Given the description of an element on the screen output the (x, y) to click on. 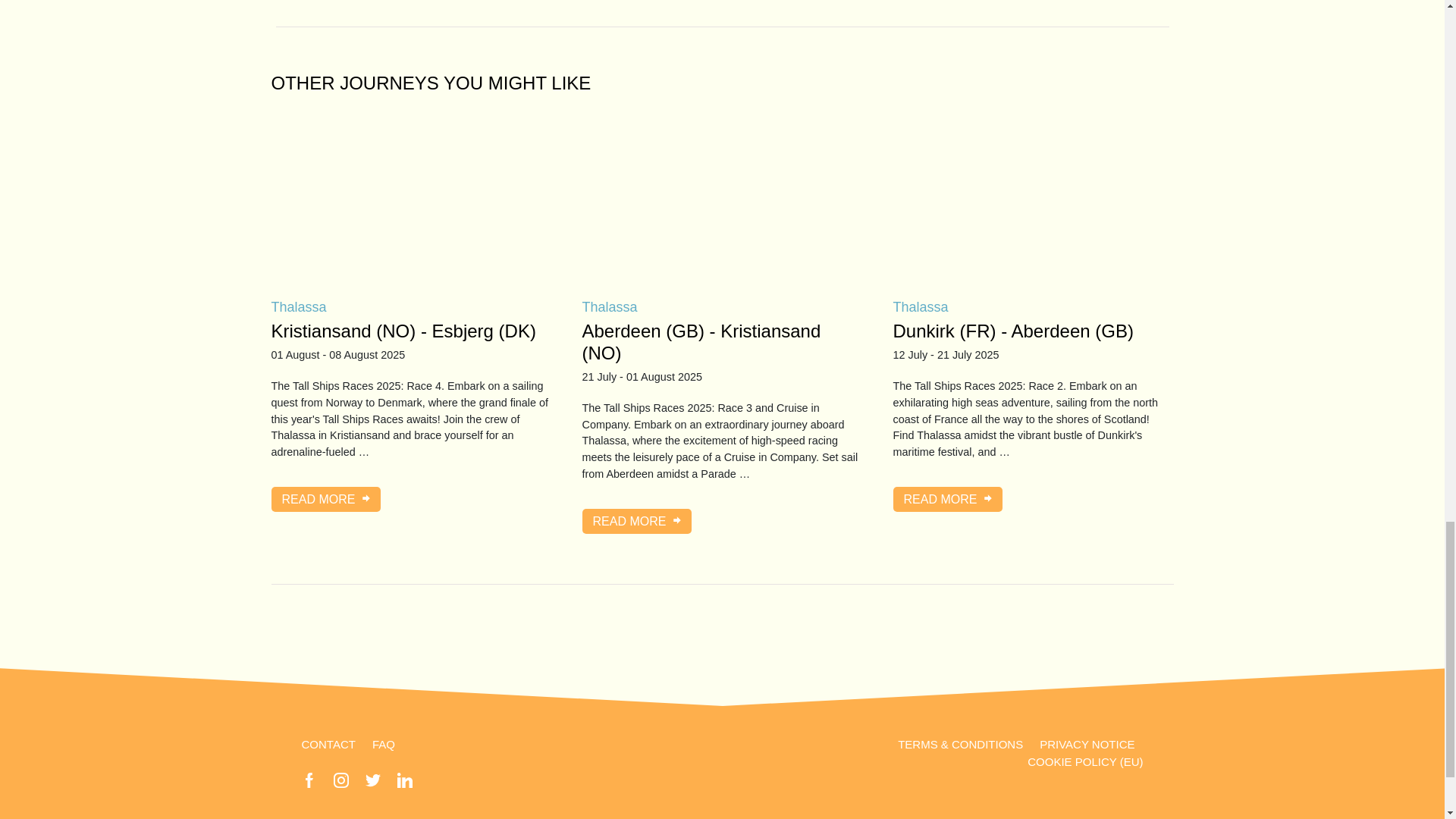
Instagram (341, 780)
LinkedIn (404, 780)
Facebook (309, 780)
Twitter (372, 780)
